Given the description of an element on the screen output the (x, y) to click on. 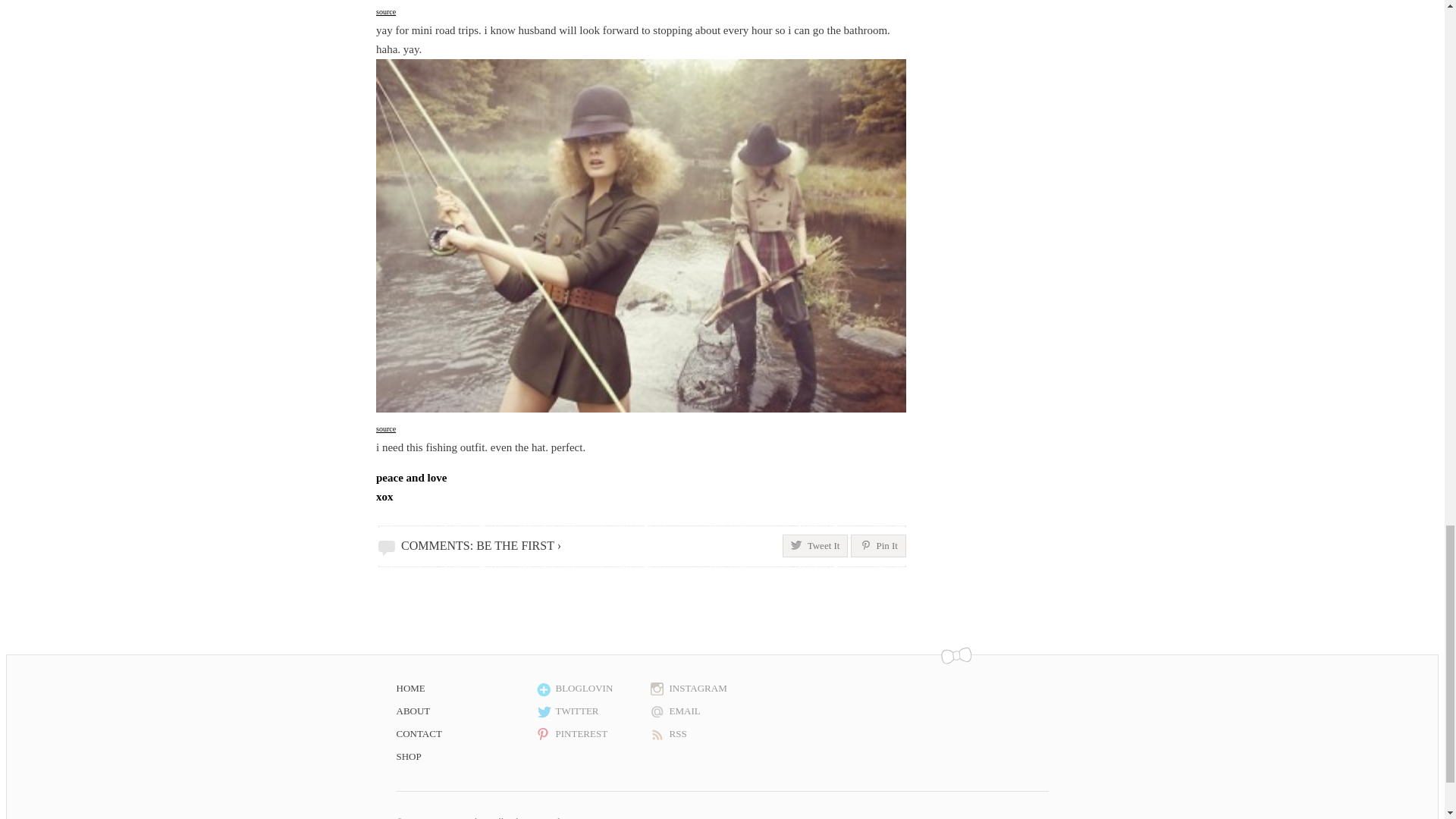
PINTEREST (589, 733)
TWITTER (589, 711)
source (385, 10)
CONTACT (464, 733)
EMAIL (703, 711)
INSTAGRAM (703, 688)
source (385, 427)
Pin It (877, 545)
ABOUT (464, 711)
SHOP (464, 756)
